Given the description of an element on the screen output the (x, y) to click on. 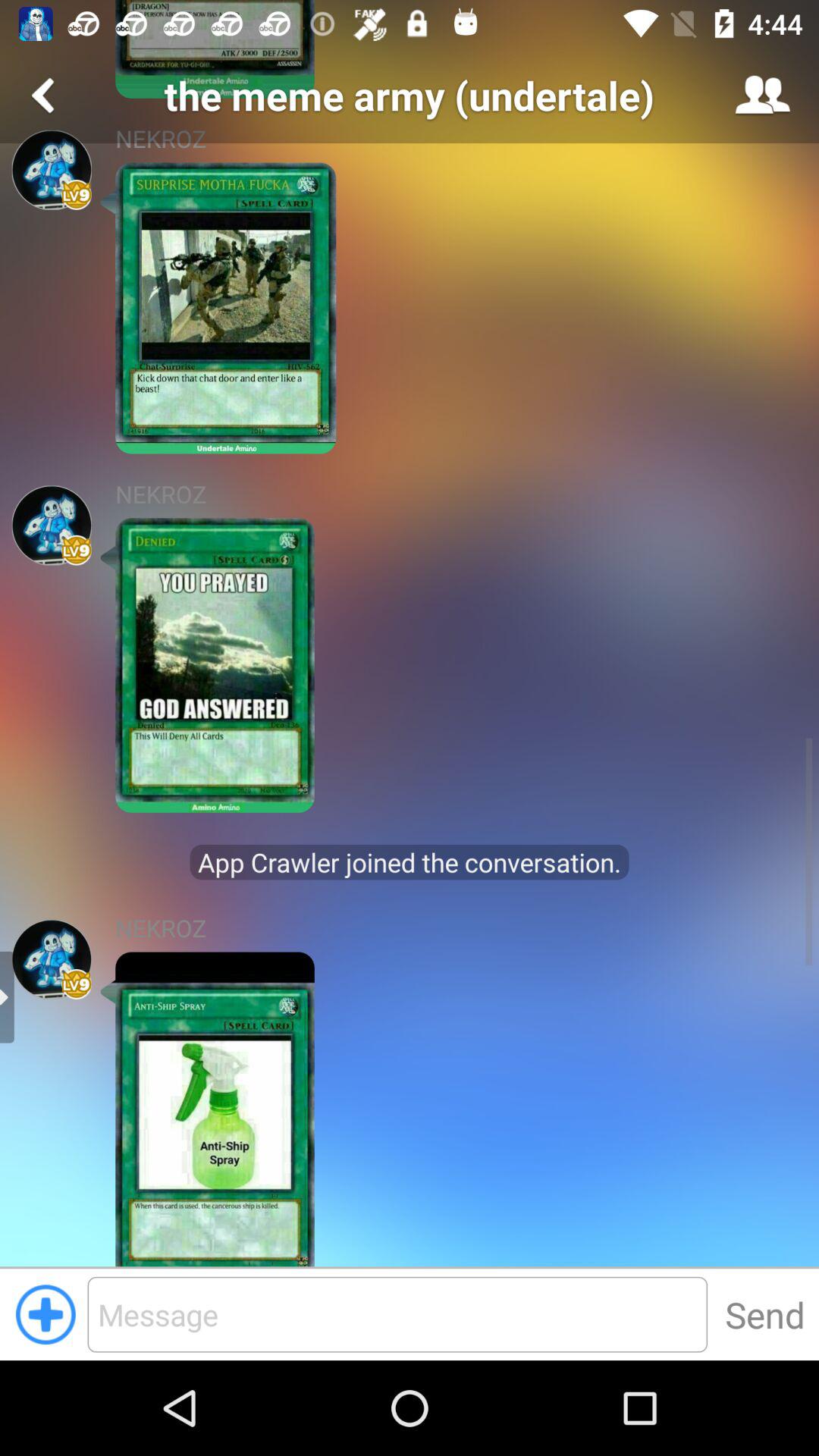
menu pega (51, 169)
